Given the description of an element on the screen output the (x, y) to click on. 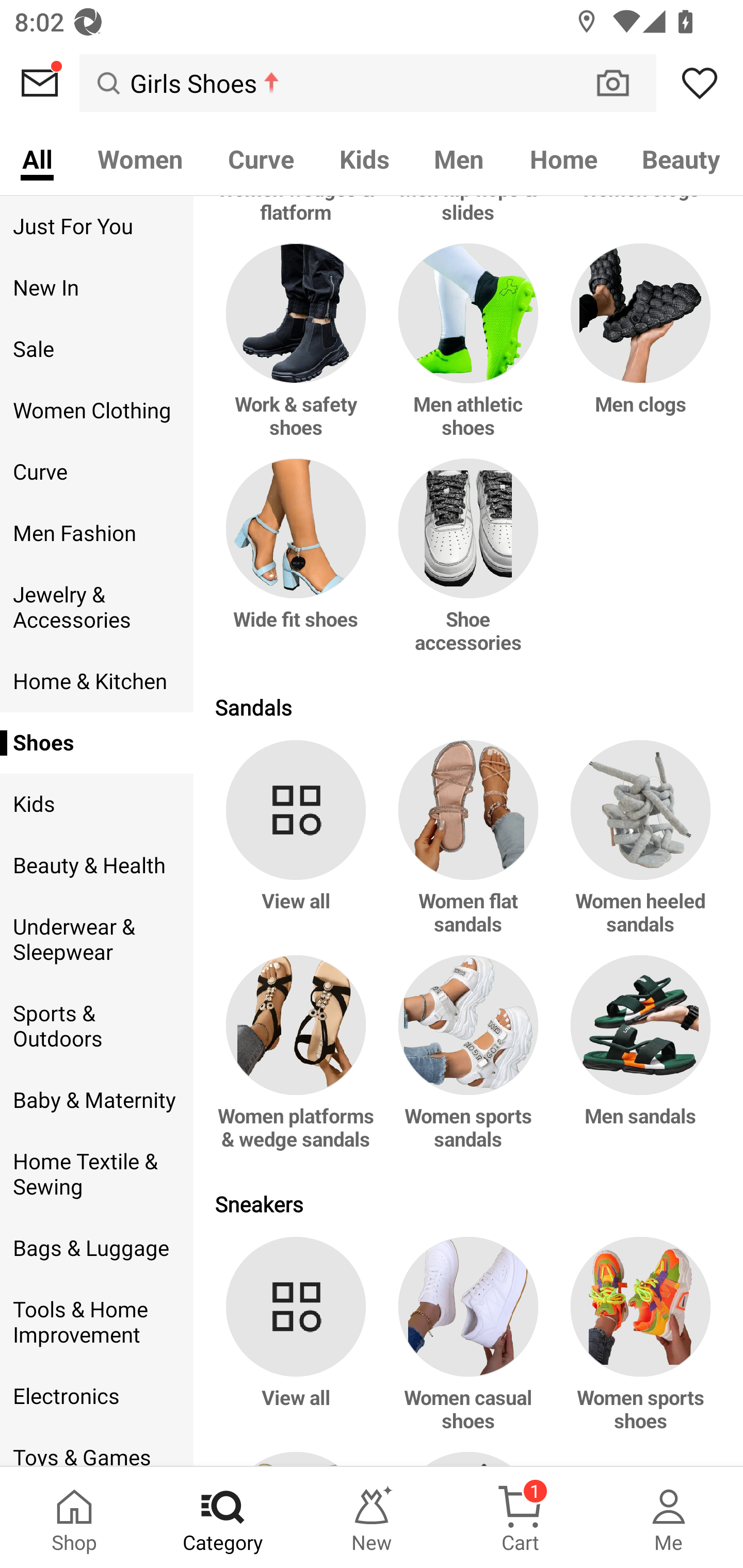
Wishlist (699, 82)
VISUAL SEARCH (623, 82)
All (37, 158)
Women (139, 158)
Curve (260, 158)
Kids (363, 158)
Men (458, 158)
Home (563, 158)
Beauty (681, 158)
Just For You (96, 226)
Work & safety shoes (299, 350)
Men athletic shoes (468, 350)
Men clogs (636, 350)
New In (96, 287)
Sale (96, 348)
Women Clothing (96, 410)
Curve (96, 472)
Wide fit shoes (299, 565)
Shoe accessories (468, 565)
Men Fashion (96, 533)
Jewelry & Accessories (96, 607)
Home & Kitchen (96, 680)
Sandals (468, 707)
Shoes (96, 742)
View all (299, 847)
Women flat sandals (468, 847)
Women heeled sandals (636, 847)
Kids (96, 804)
Beauty & Health (96, 865)
Underwear & Sleepwear (96, 939)
Women platforms & wedge sandals (299, 1061)
Women sports sandals (468, 1061)
Men sandals (636, 1061)
Sports & Outdoors (96, 1026)
Baby & Maternity (96, 1099)
Home Textile & Sewing (96, 1174)
Sneakers (468, 1203)
Bags & Luggage (96, 1248)
View all (299, 1344)
Women casual shoes (468, 1344)
Women sports shoes (636, 1344)
Tools & Home Improvement (96, 1322)
Electronics (96, 1395)
Toys & Games (96, 1446)
New (371, 1517)
Cart 1 Cart (519, 1517)
Me (668, 1517)
